Given the description of an element on the screen output the (x, y) to click on. 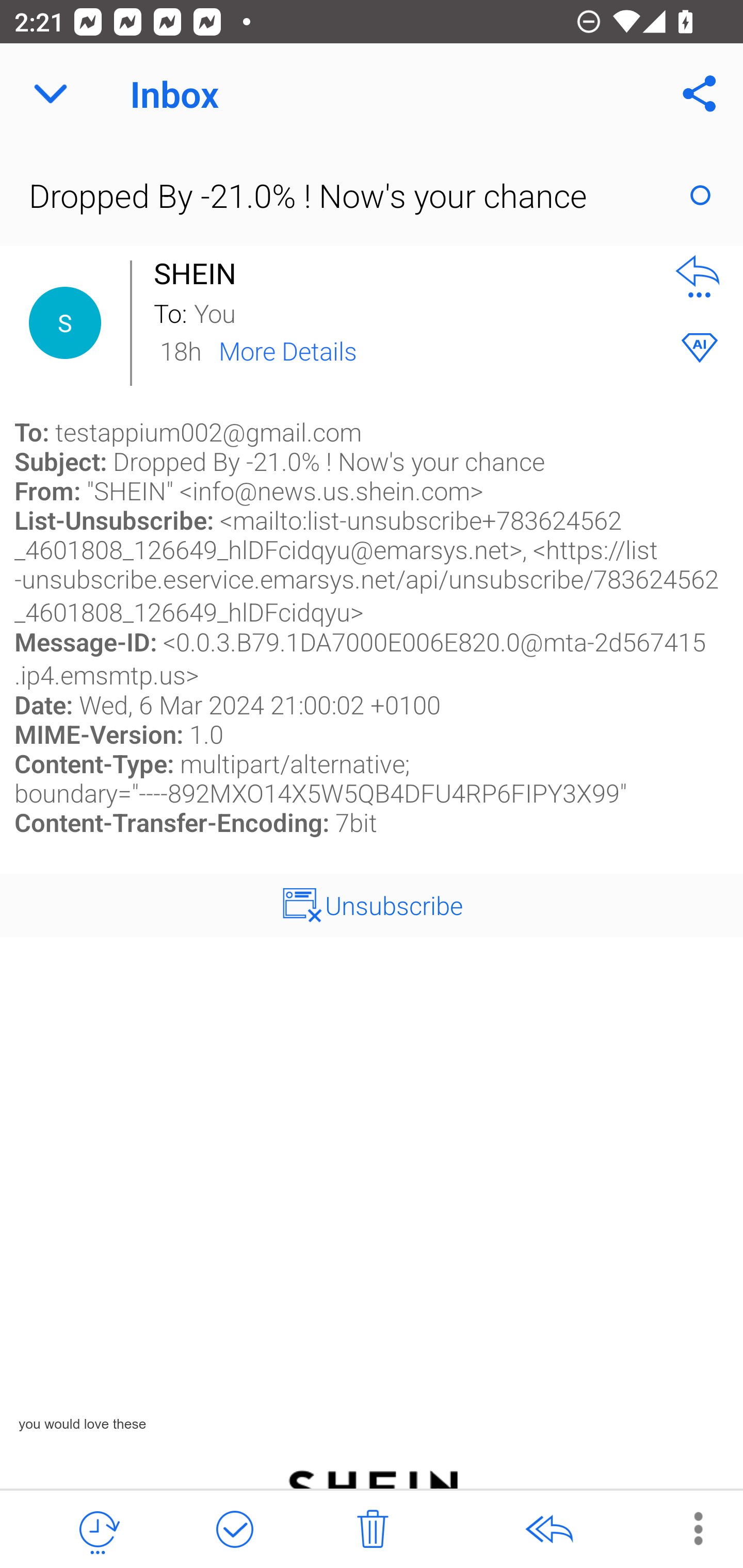
Navigate up (50, 93)
Share (699, 93)
Mark as Read (699, 194)
SHEIN (200, 273)
Contact Details (64, 322)
More Details (287, 349)
you would love these (82, 705)
Unsubscribe (393, 904)
